Given the description of an element on the screen output the (x, y) to click on. 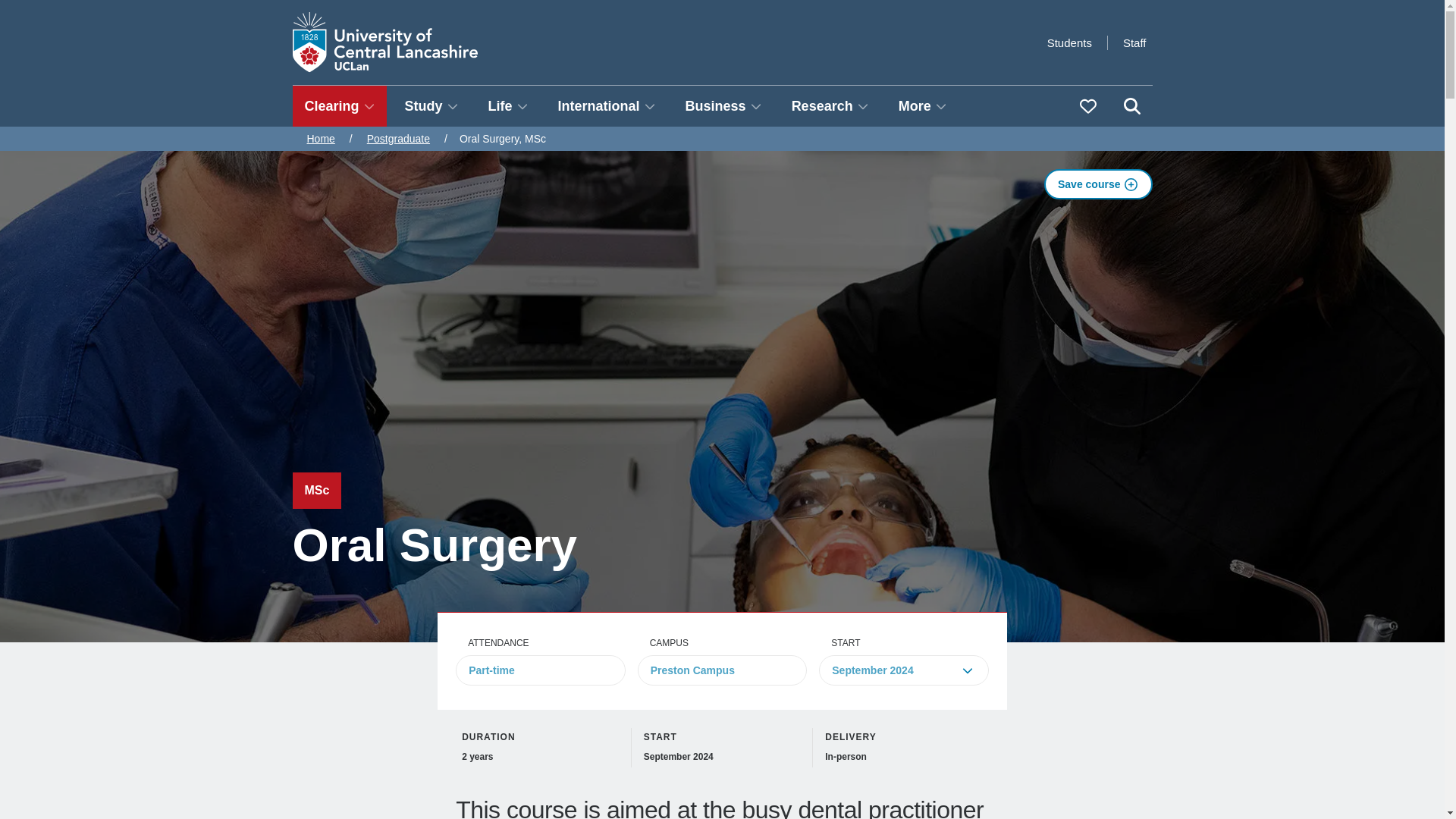
Staff (1134, 42)
Study (431, 105)
Students (1069, 42)
Life (508, 105)
Clearing (339, 105)
